Given the description of an element on the screen output the (x, y) to click on. 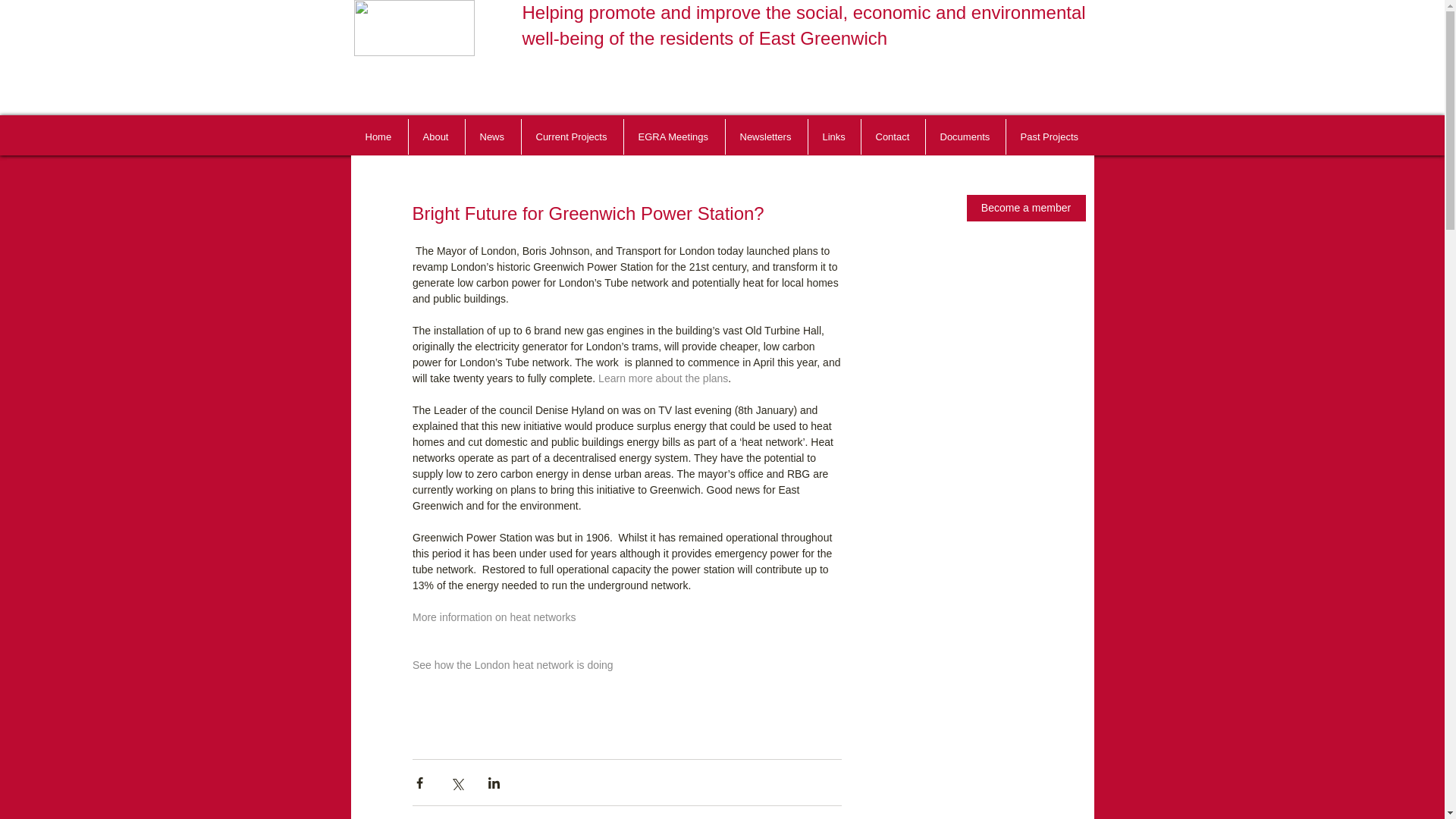
Contact (892, 136)
Newsletters (765, 136)
More information on heat networks (494, 616)
Links (834, 136)
EGRA-Logo-Final.png (413, 28)
Home (378, 136)
EGRA Meetings (673, 136)
Learn more about the plans (663, 378)
News (493, 136)
Past Projects (1049, 136)
